Given the description of an element on the screen output the (x, y) to click on. 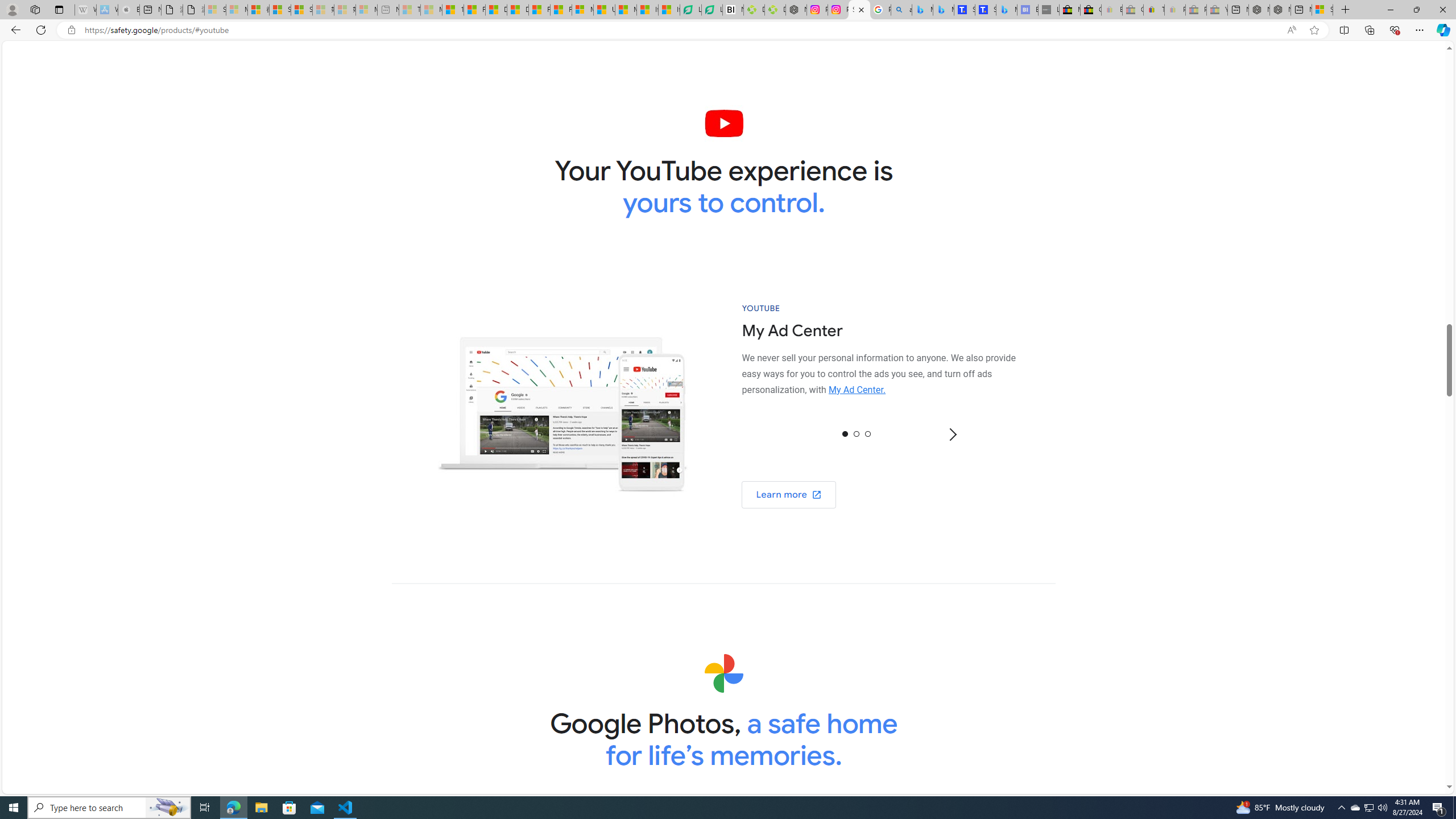
Microsoft Services Agreement - Sleeping (236, 9)
Microsoft Bing Travel - Shangri-La Hotel Bangkok (1006, 9)
The YouTube logo (724, 122)
Shangri-La Bangkok, Hotel reviews and Room rates (985, 9)
The Photos logo (723, 672)
2 (867, 433)
1 (855, 433)
Learn more about YouTube (789, 494)
